Given the description of an element on the screen output the (x, y) to click on. 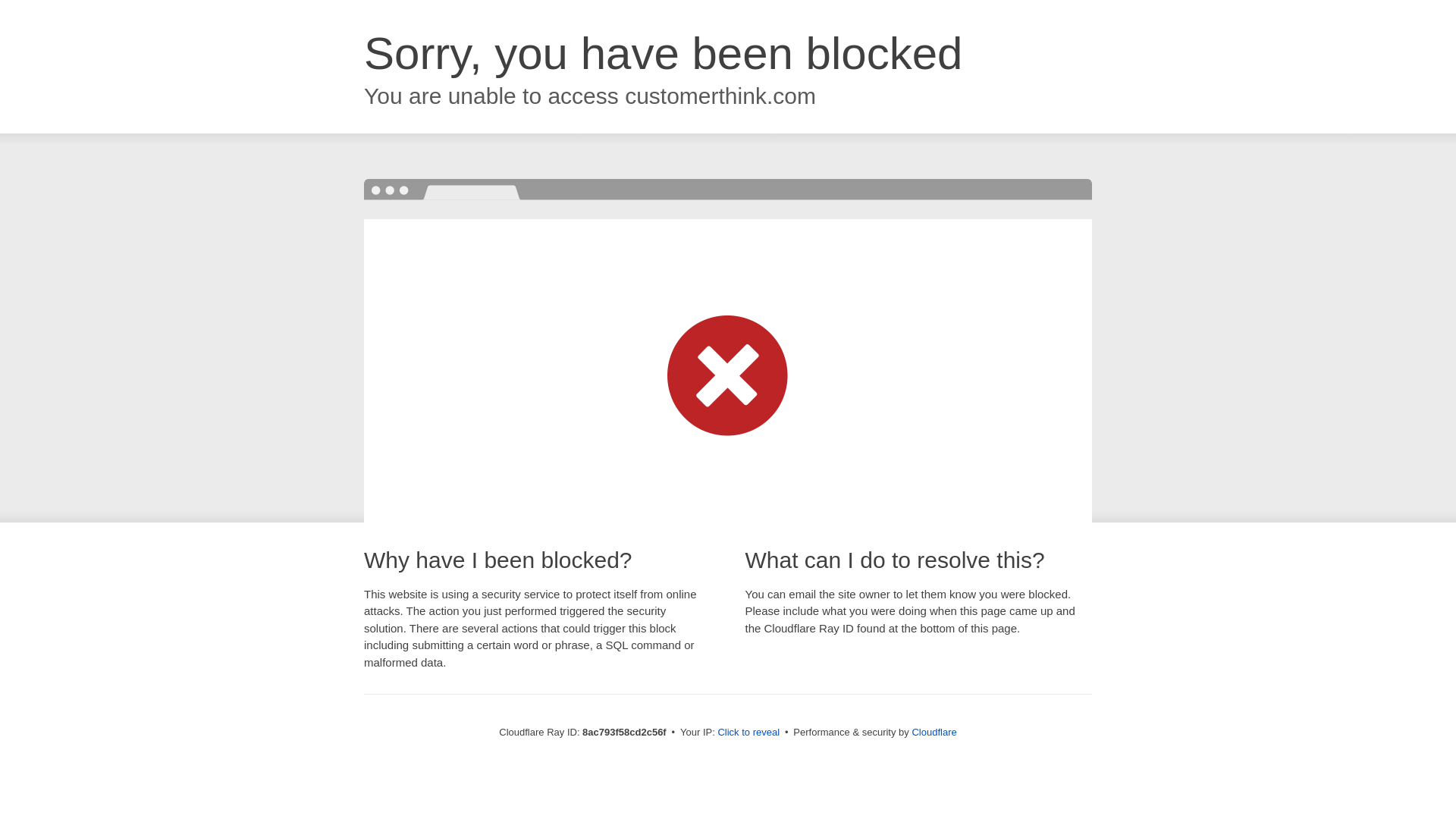
Cloudflare (933, 731)
Click to reveal (747, 732)
